Given the description of an element on the screen output the (x, y) to click on. 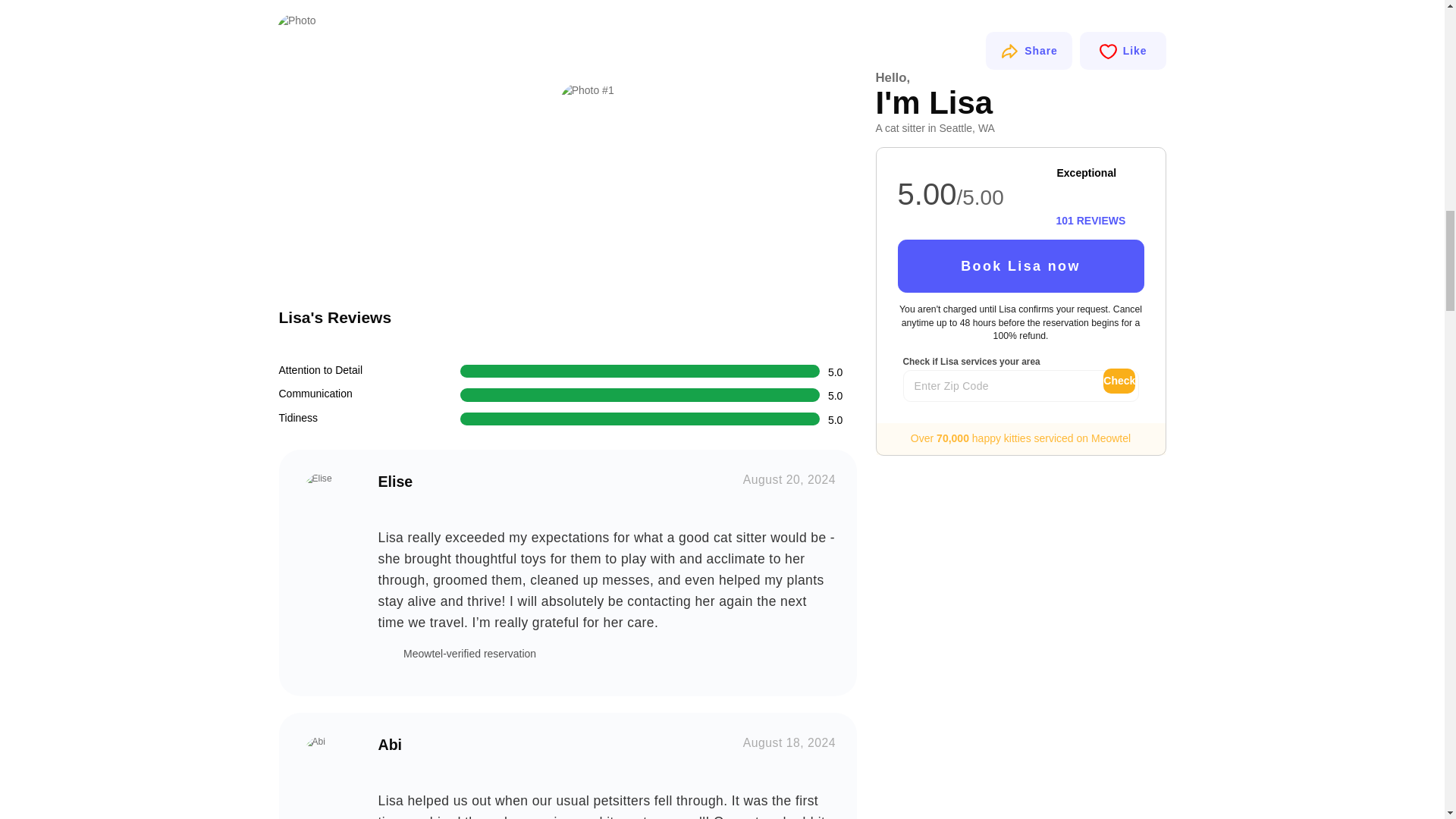
Elise (327, 498)
Abi (327, 762)
Photo (415, 152)
